Given the description of an element on the screen output the (x, y) to click on. 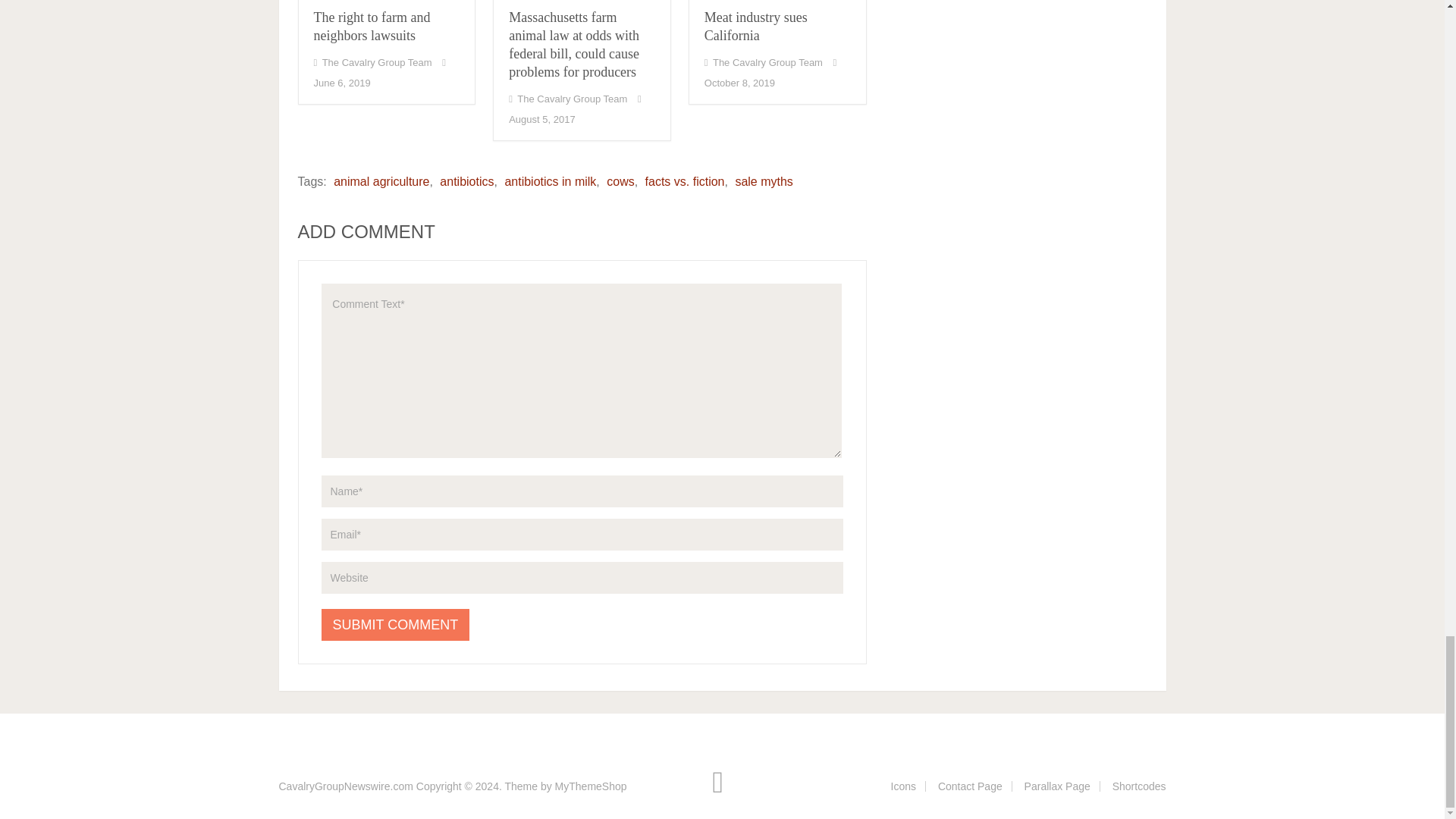
Submit Comment (395, 624)
